Given the description of an element on the screen output the (x, y) to click on. 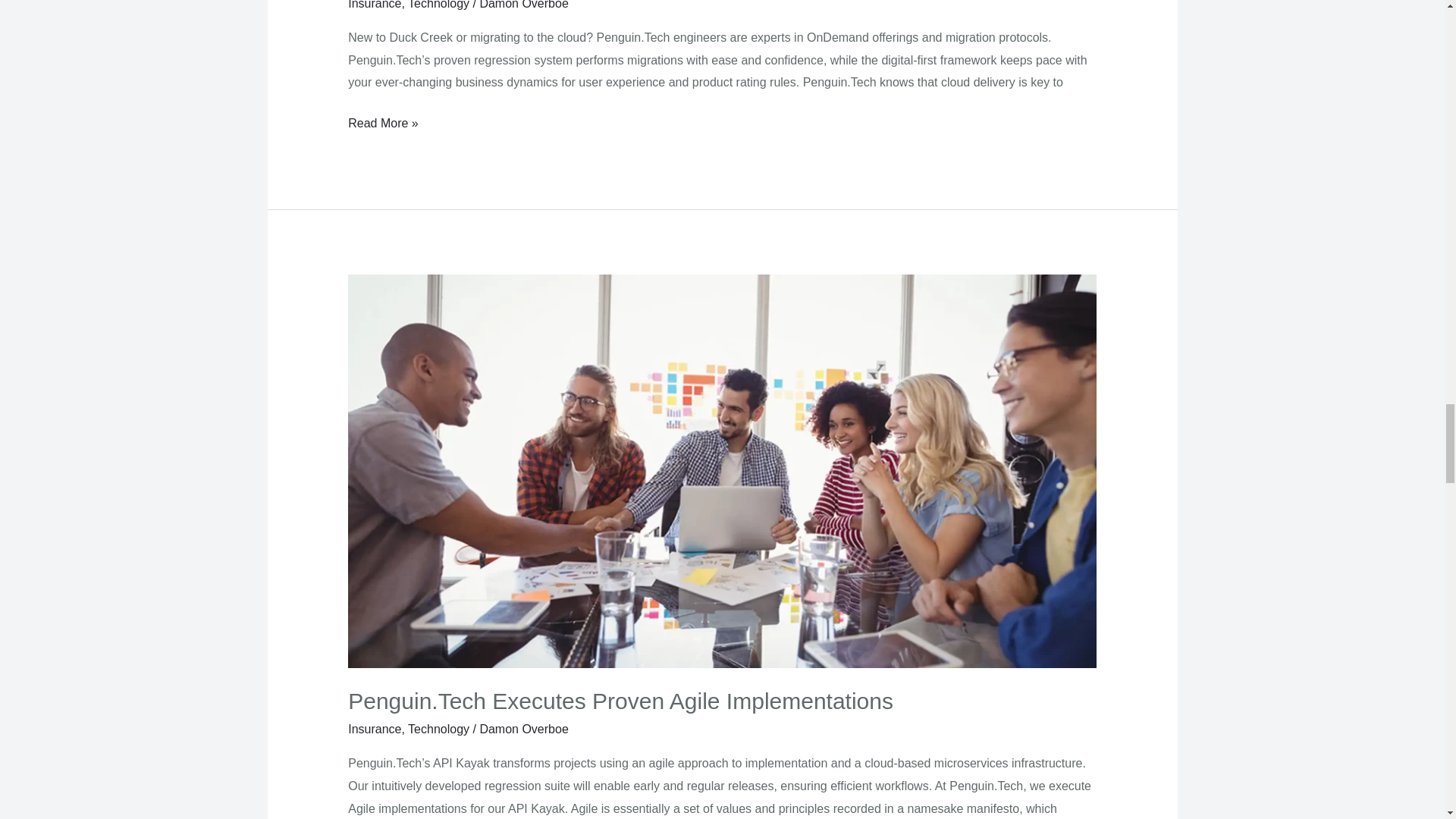
View all posts by Damon Overboe (523, 4)
View all posts by Damon Overboe (523, 728)
